Given the description of an element on the screen output the (x, y) to click on. 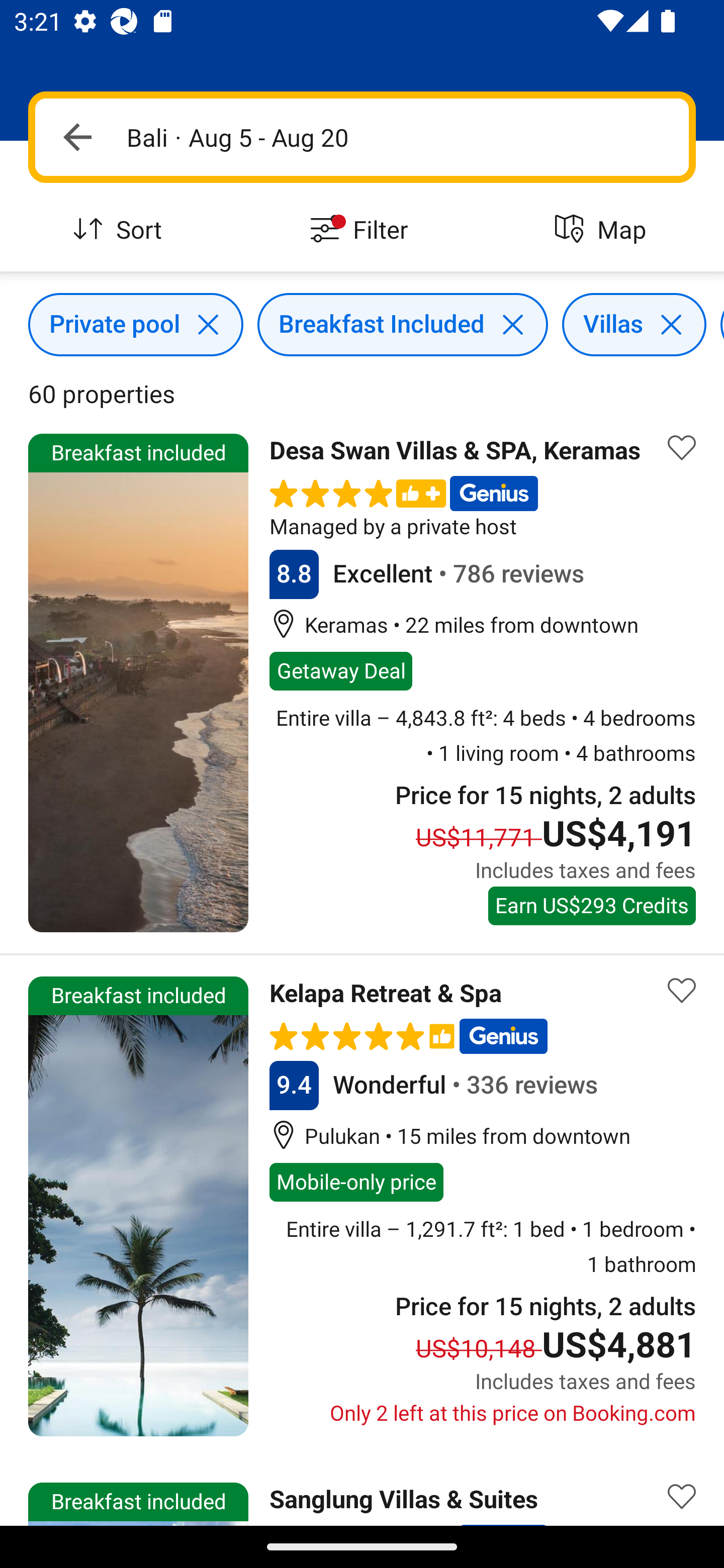
Navigate up Bali · Aug 5 - Aug 20 (362, 136)
Navigate up (77, 136)
Sort (120, 230)
Filter (361, 230)
Map (603, 230)
Save property to list (681, 447)
Save property to list (681, 990)
Save property to list (681, 1490)
